Given the description of an element on the screen output the (x, y) to click on. 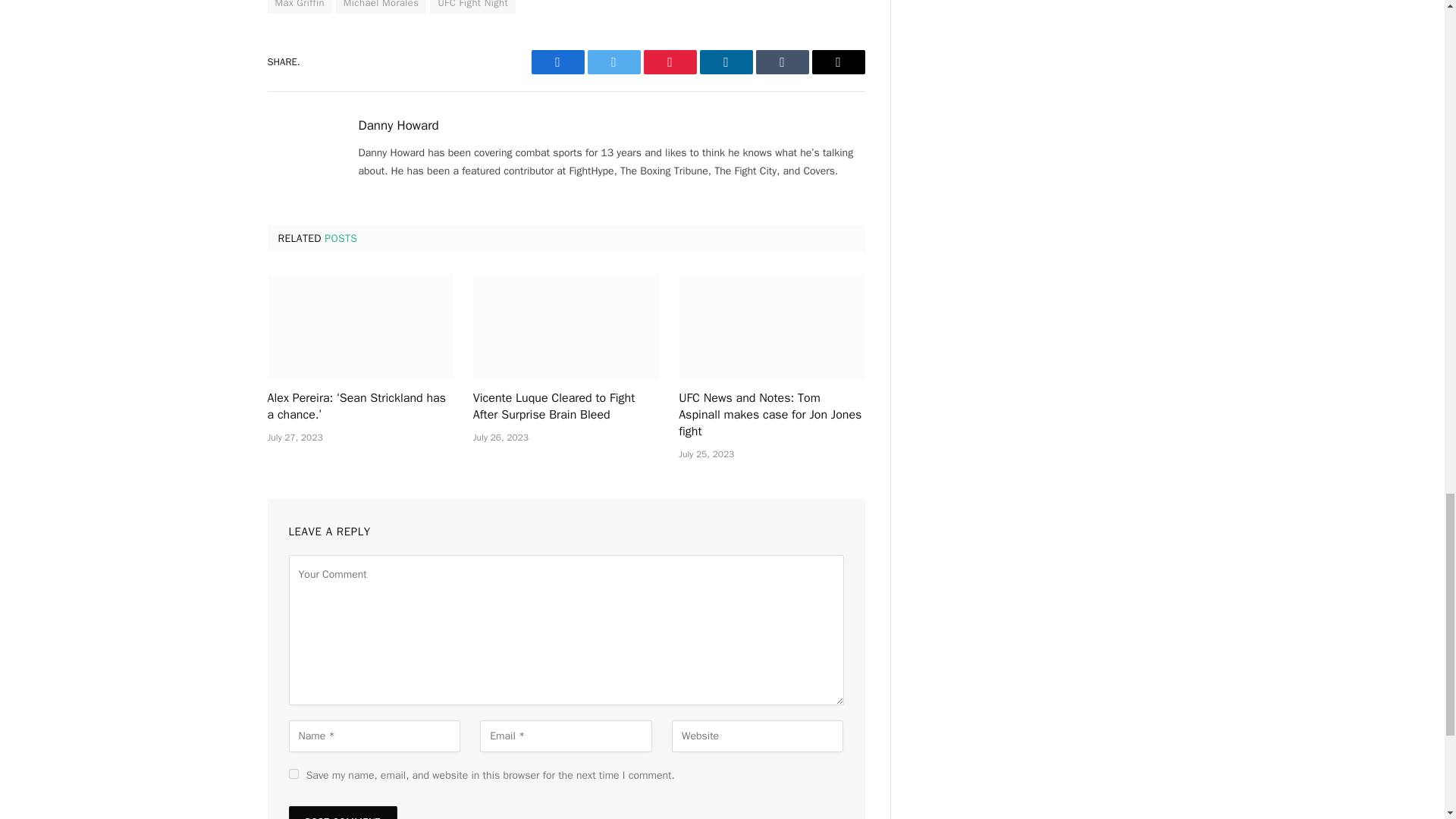
Michael Morales (381, 6)
yes (293, 773)
Pinterest (669, 61)
Tumblr (781, 61)
Email (837, 61)
LinkedIn (725, 61)
Twitter (613, 61)
Facebook (557, 61)
Max Griffin (298, 6)
UFC Fight Night (472, 6)
